Given the description of an element on the screen output the (x, y) to click on. 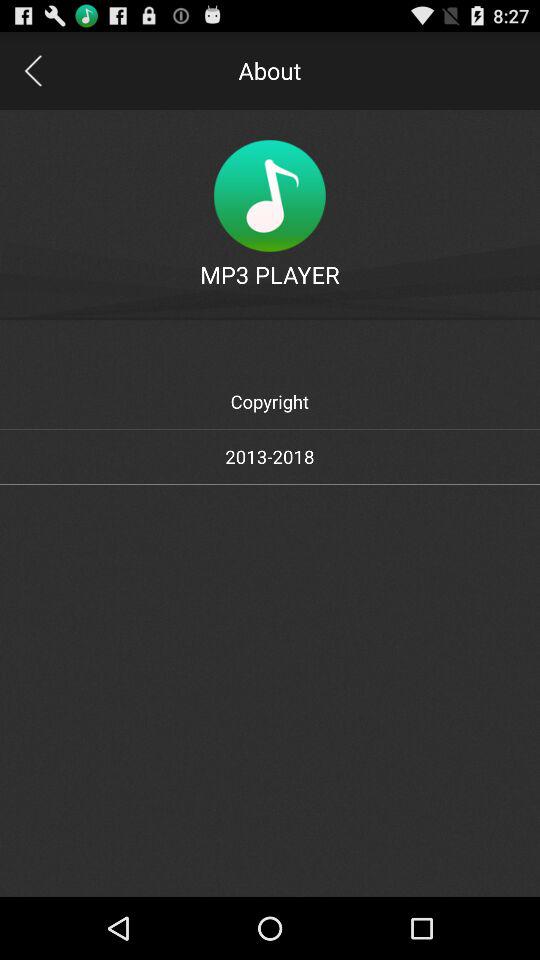
turn on item at the top left corner (32, 70)
